Given the description of an element on the screen output the (x, y) to click on. 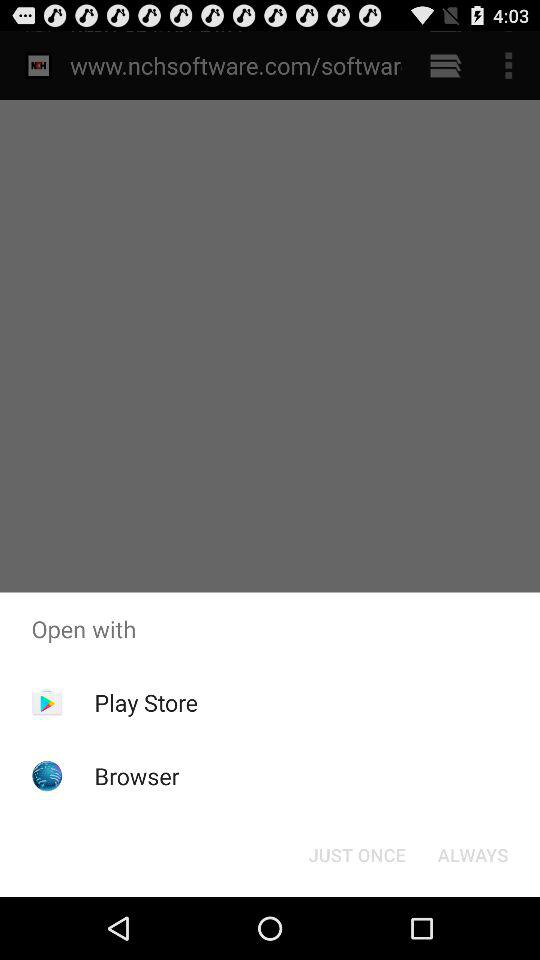
open the always at the bottom right corner (472, 854)
